Given the description of an element on the screen output the (x, y) to click on. 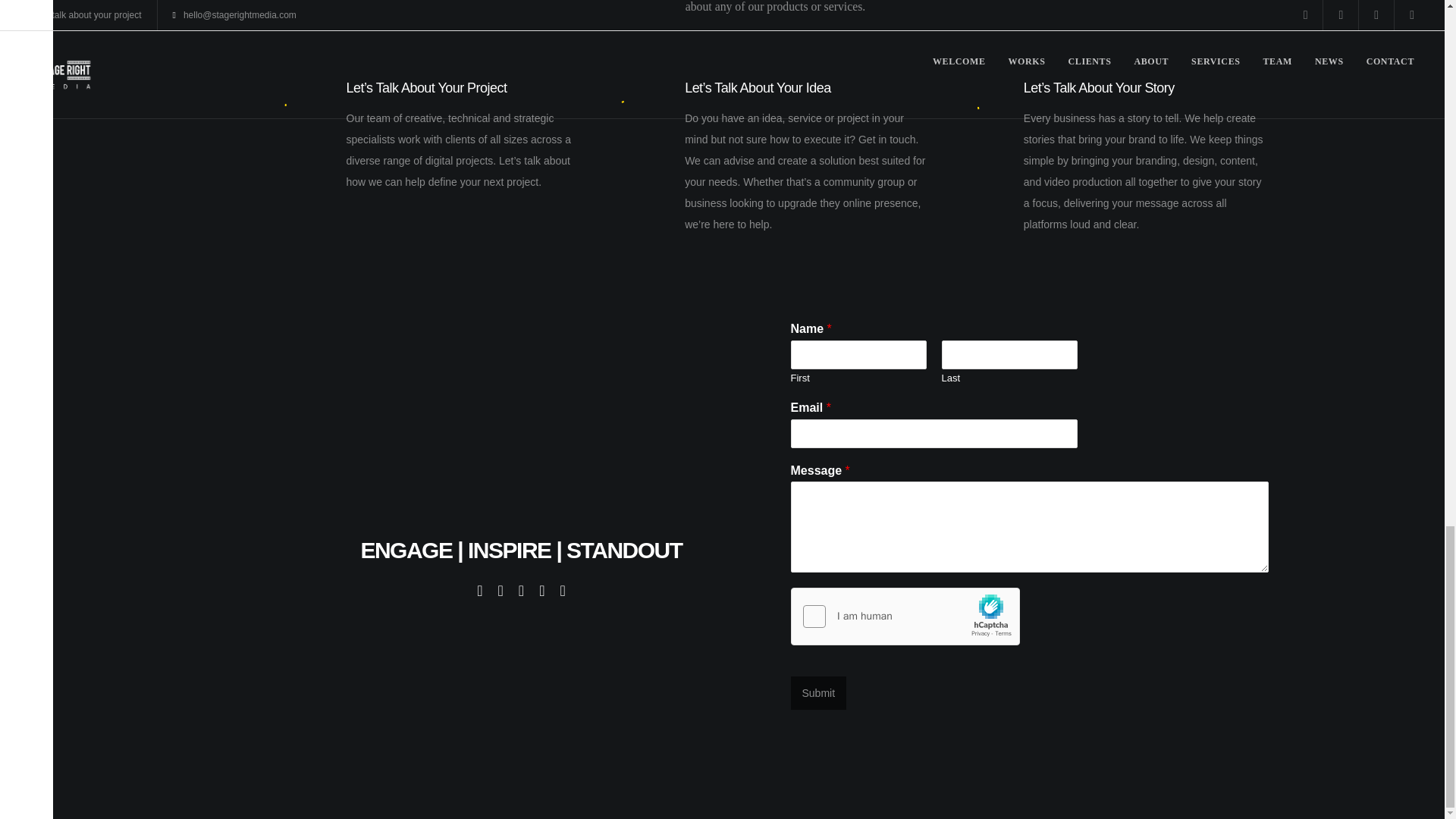
Submit (817, 693)
Widget containing checkbox for hCaptcha security challenge (905, 617)
